Given the description of an element on the screen output the (x, y) to click on. 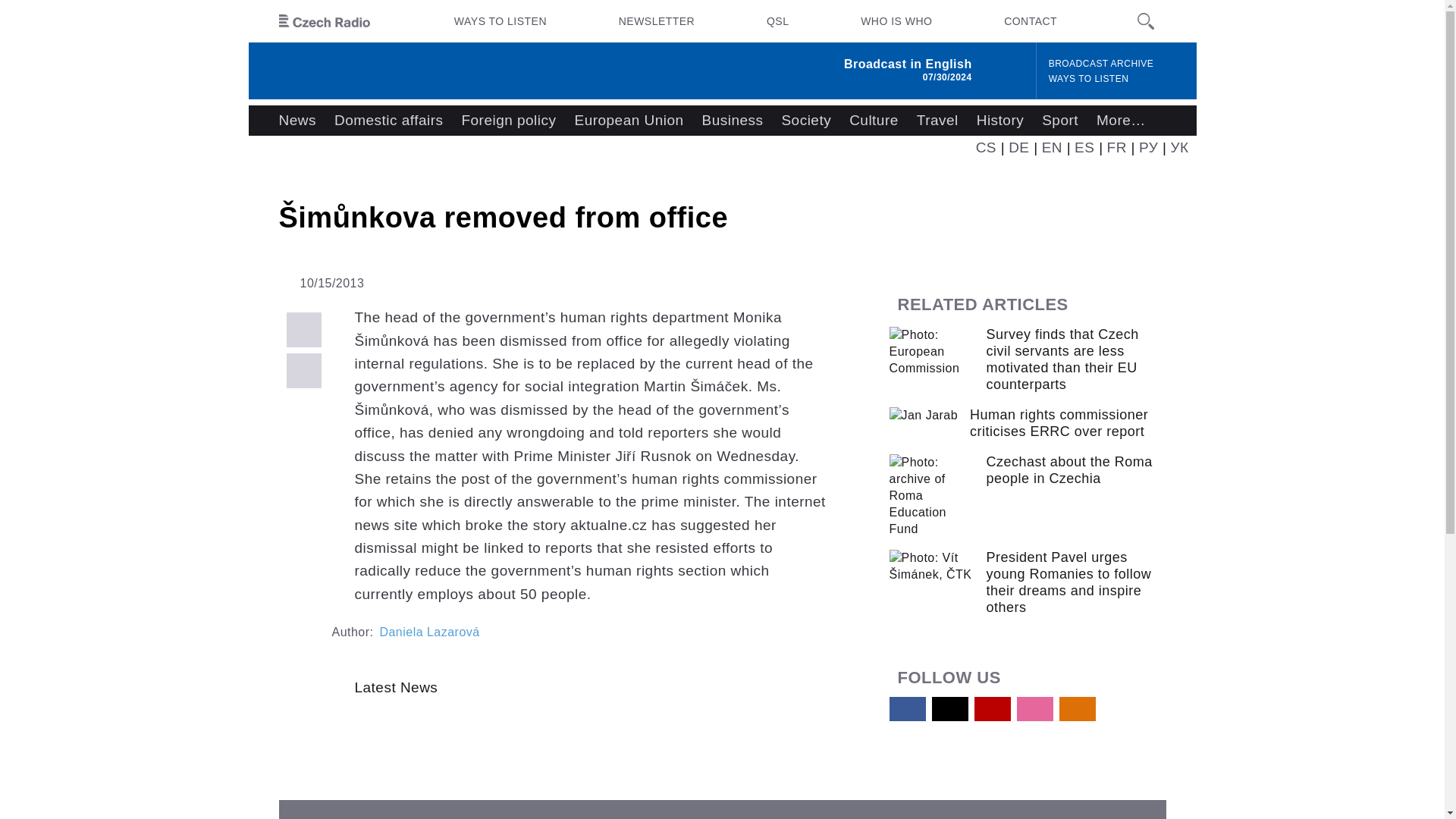
WAYS TO LISTEN (1088, 78)
QSL (777, 21)
Society (805, 120)
WAYS TO LISTEN (500, 21)
FR (1116, 147)
Business (733, 120)
Travel (937, 120)
History (1000, 120)
Czech Radio (324, 21)
CS (985, 147)
Culture (873, 120)
Sport (1059, 120)
Broadcast in English  (908, 63)
ES (1084, 147)
NEWSLETTER (656, 21)
